Given the description of an element on the screen output the (x, y) to click on. 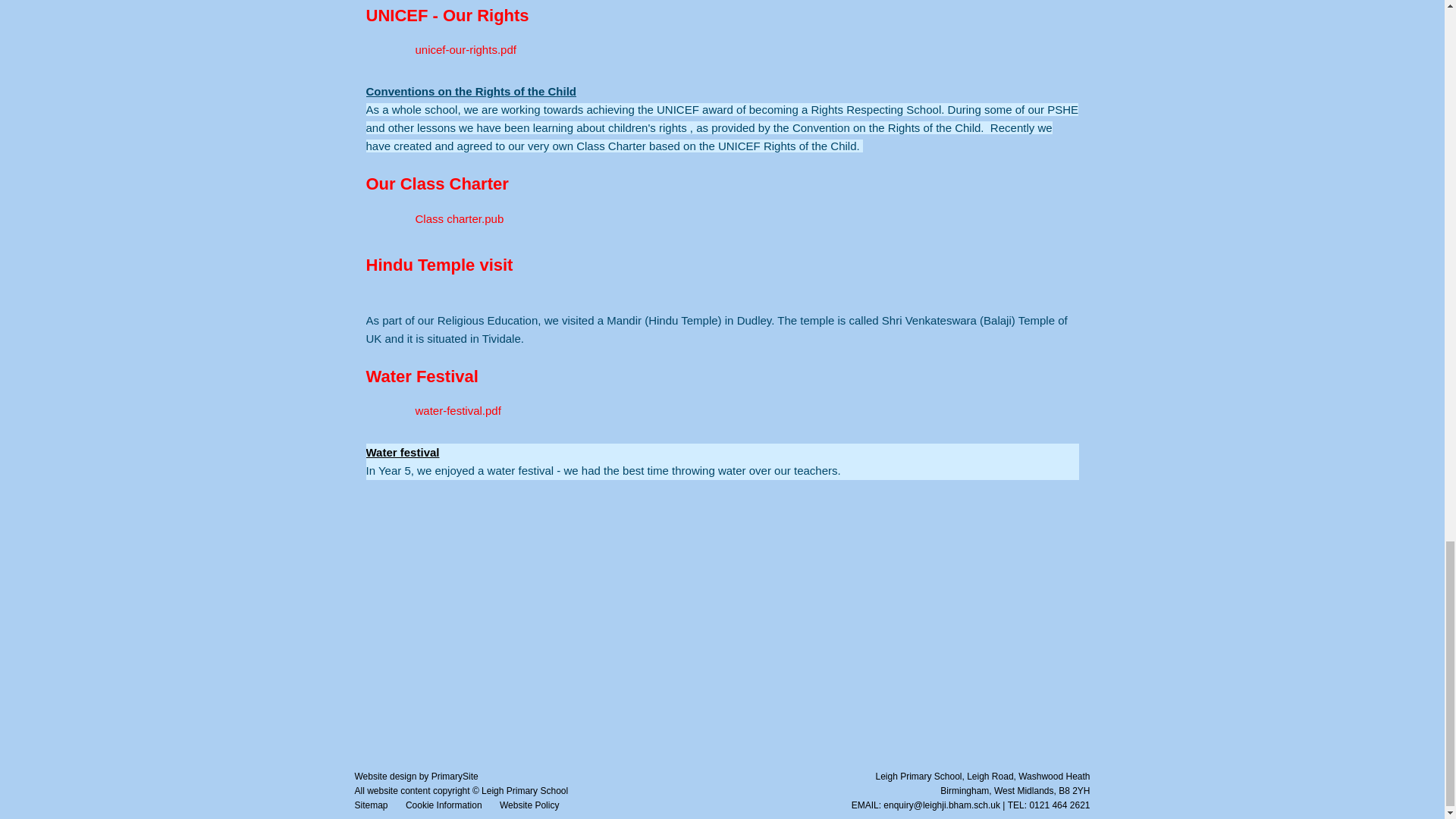
unicef-our-rights.pdf (440, 49)
